Given the description of an element on the screen output the (x, y) to click on. 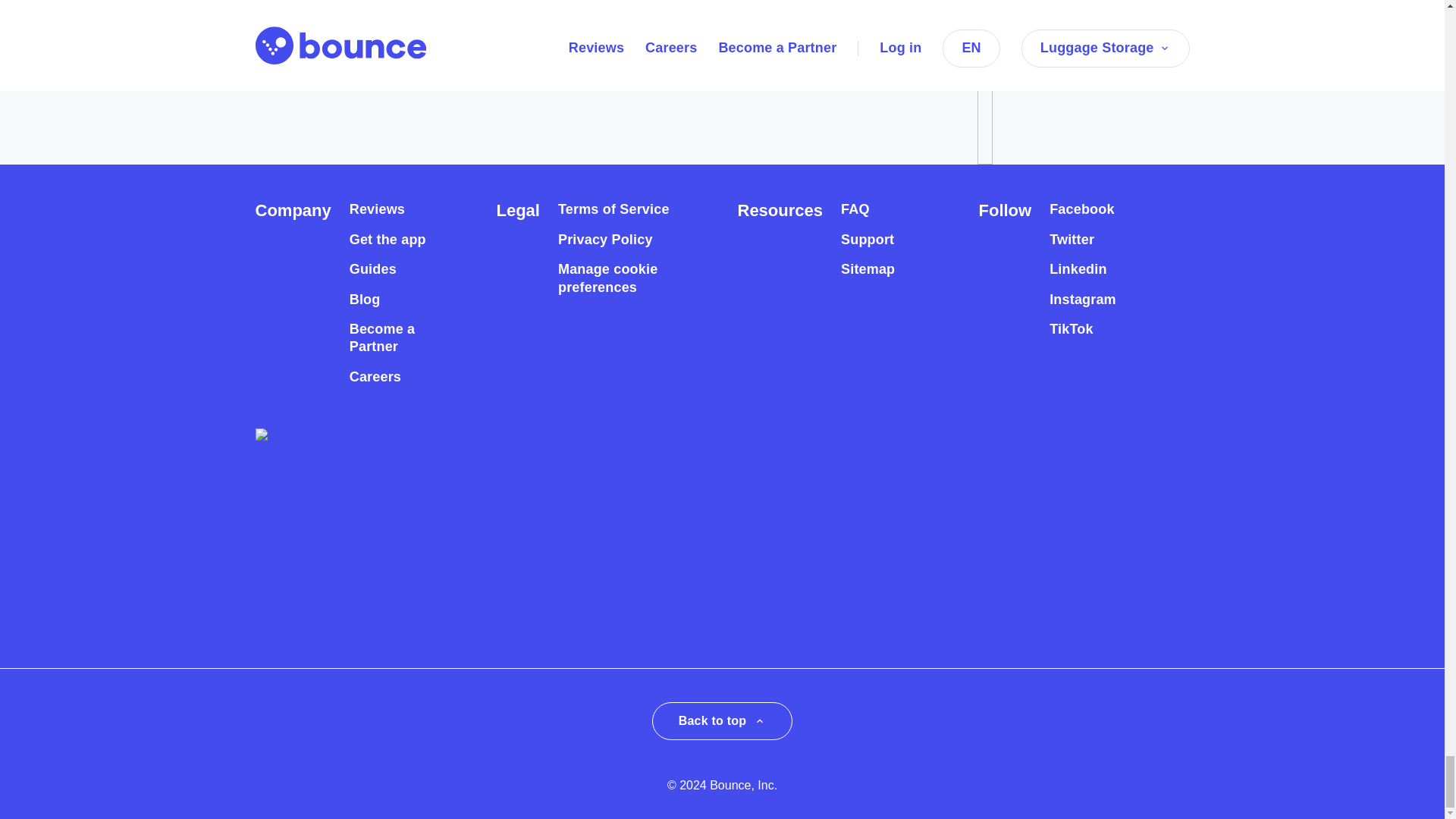
Reviews (376, 209)
Become a Partner (395, 338)
Manage cookie preferences (619, 278)
Blog (364, 298)
Guides (372, 269)
Download (321, 30)
FAQ (855, 209)
Terms of Service (613, 209)
Careers (375, 376)
Privacy Policy (604, 239)
Get the app (387, 239)
